Given the description of an element on the screen output the (x, y) to click on. 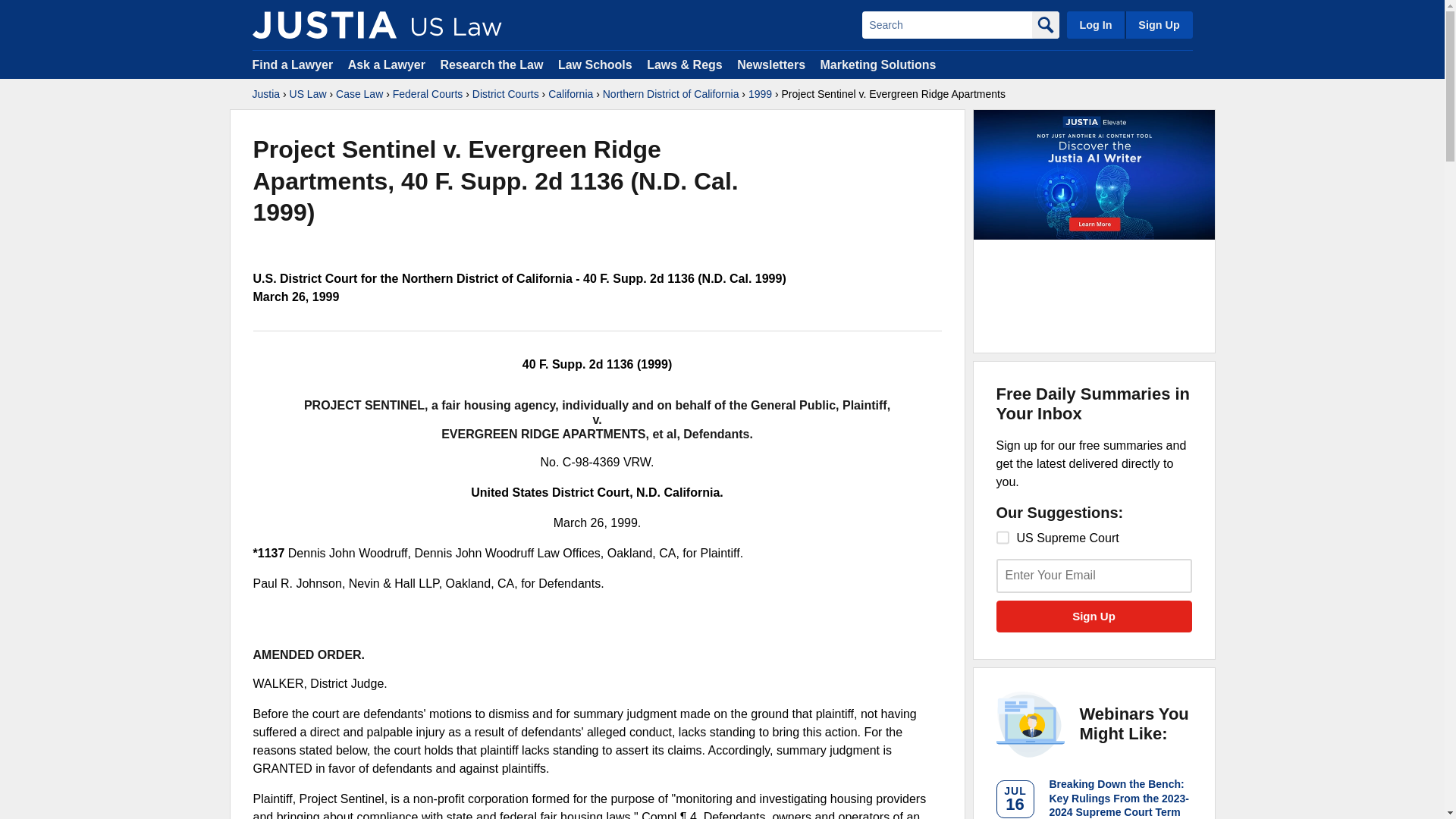
California (570, 93)
Marketing Solutions (877, 64)
Ask a Lawyer (388, 64)
Sign Up (1158, 24)
Justia (265, 93)
Case Law (359, 93)
US Law (307, 93)
Justia (323, 24)
Log In (1094, 24)
Find a Lawyer (292, 64)
Newsletters (770, 64)
Federal Courts (428, 93)
Northern District of California (670, 93)
District Courts (504, 93)
Research the Law (491, 64)
